Given the description of an element on the screen output the (x, y) to click on. 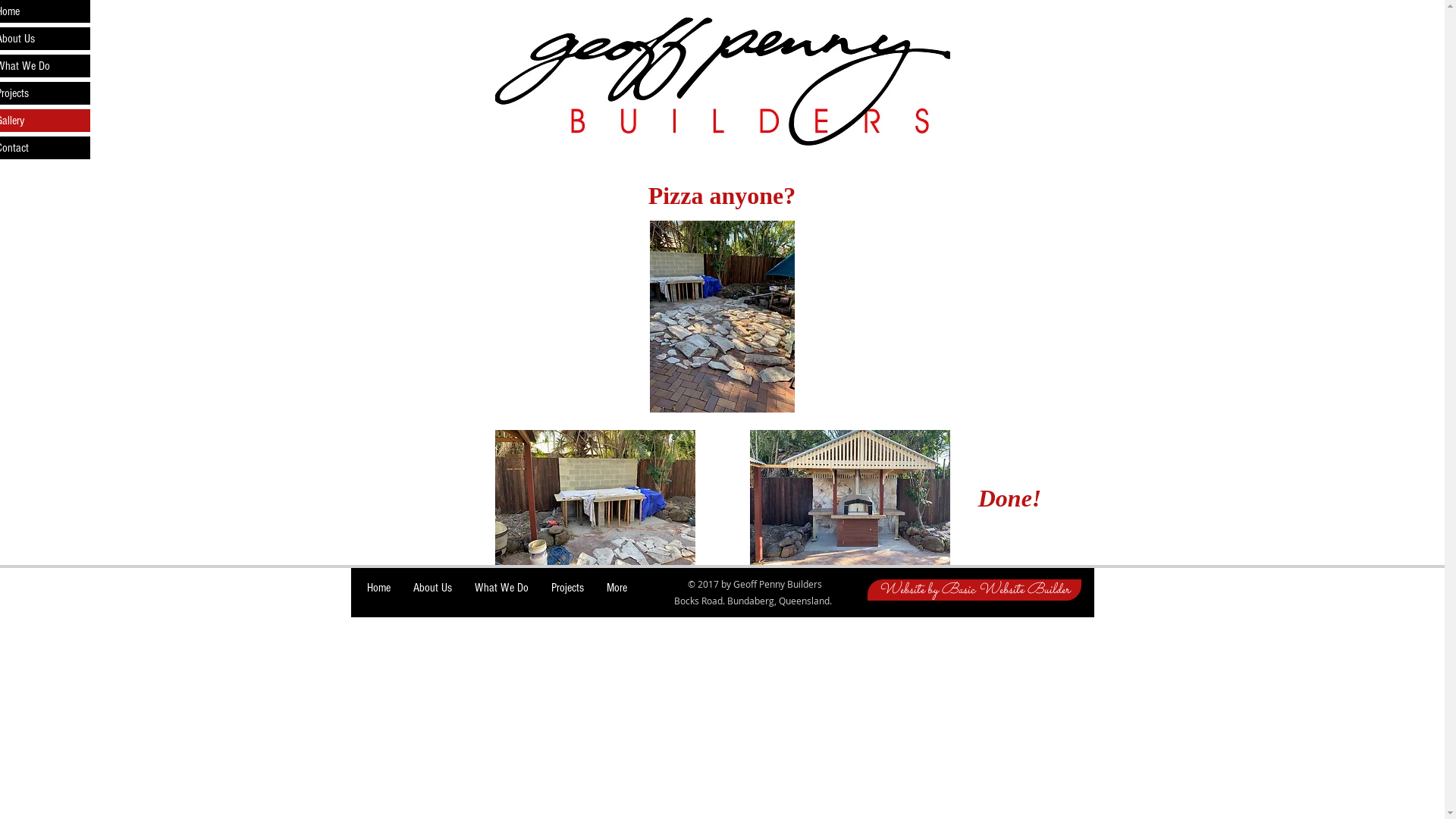
About Us Element type: text (431, 587)
penny 2.jpg Element type: hover (721, 81)
Website by Basic Website Builder Element type: text (974, 589)
What We Do Element type: text (501, 587)
Home Element type: text (378, 587)
Projects Element type: text (566, 587)
